Given the description of an element on the screen output the (x, y) to click on. 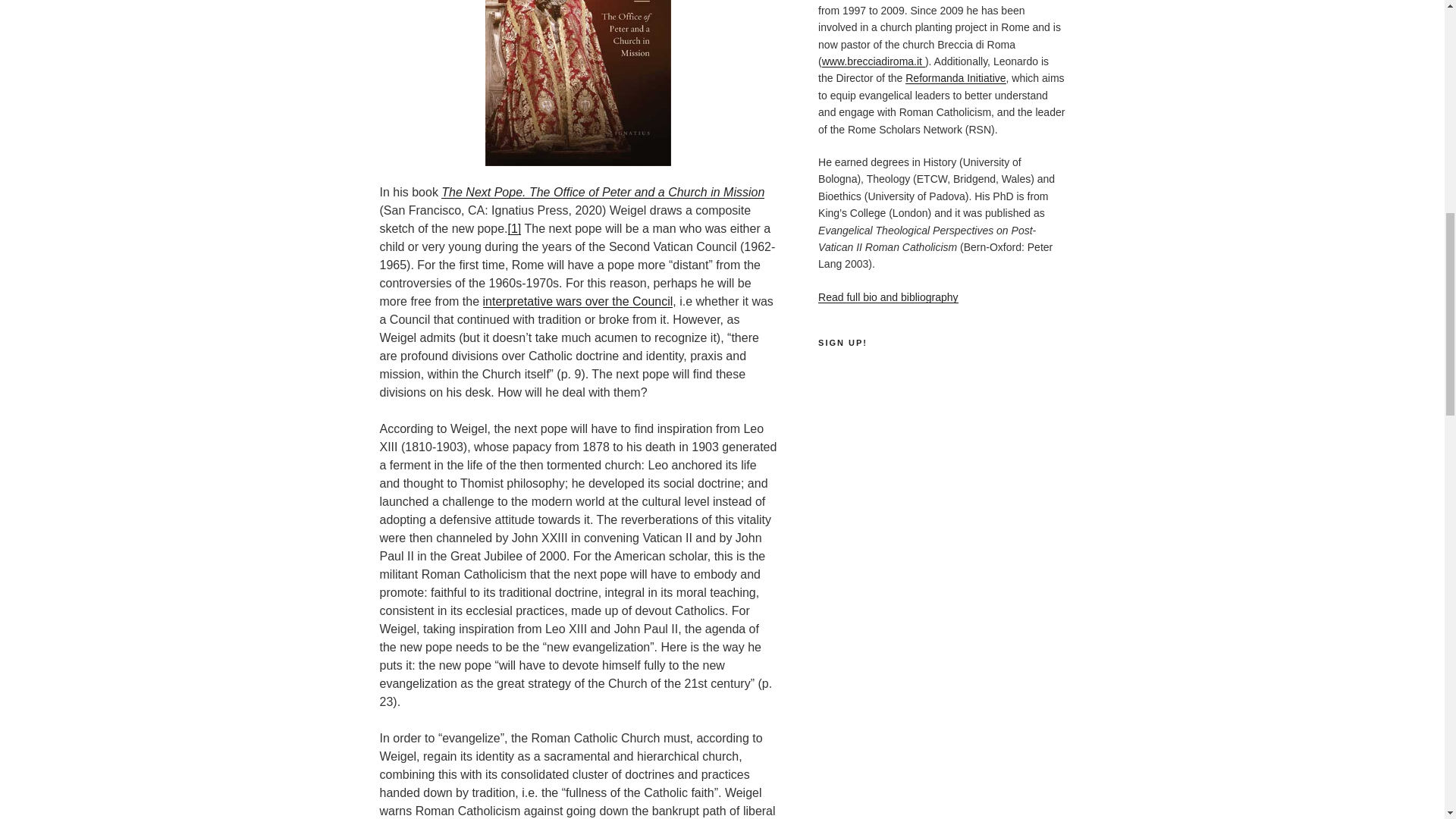
interpretative wars over the Council (577, 300)
The Next Pope. The Office of Peter and a Church in Mission (602, 192)
